Given the description of an element on the screen output the (x, y) to click on. 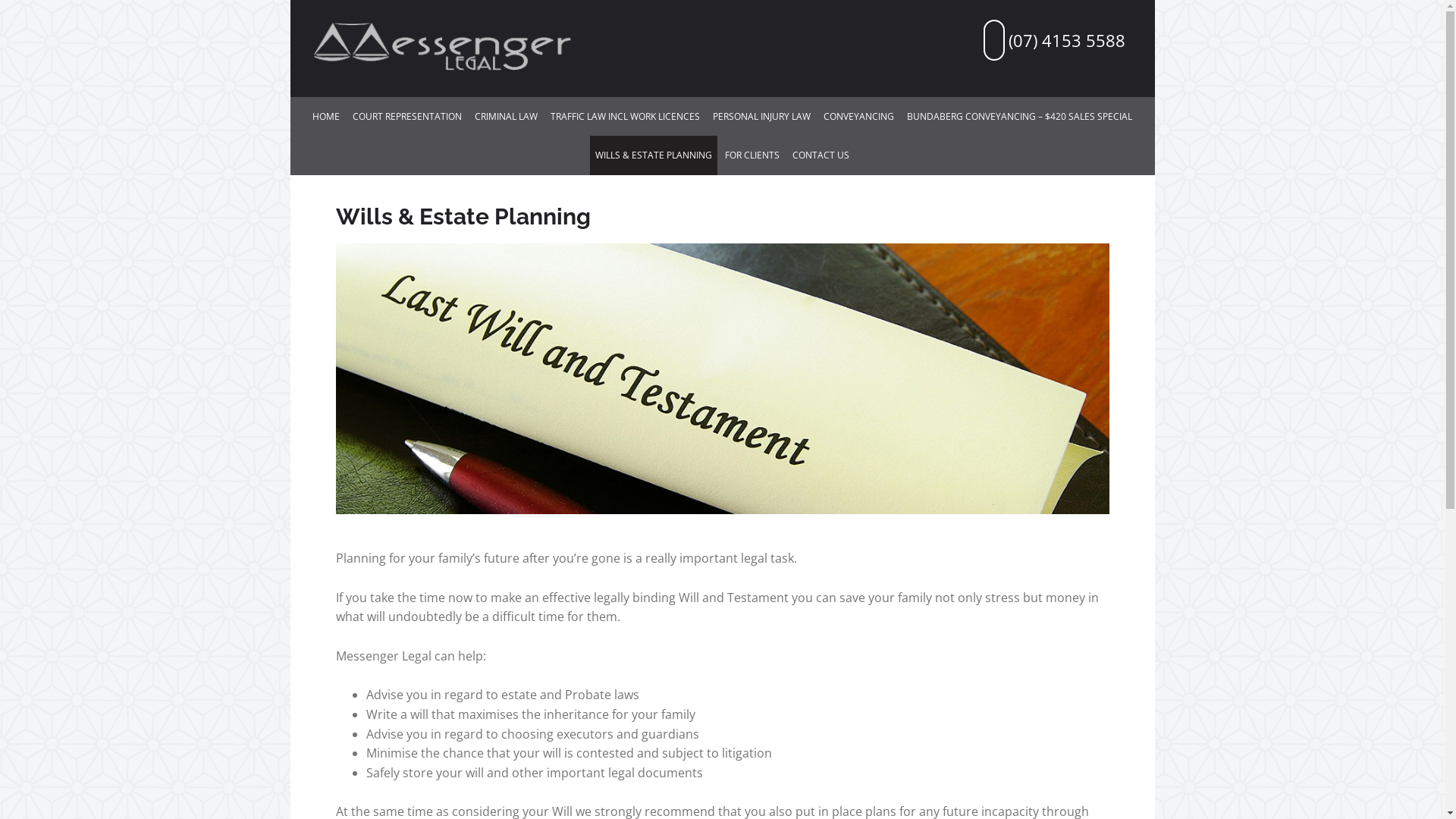
CONTACT US Element type: text (820, 154)
FOR CLIENTS Element type: text (751, 154)
HOME Element type: text (326, 116)
WILLS & ESTATE PLANNING Element type: text (653, 154)
TRAFFIC LAW INCL WORK LICENCES Element type: text (625, 116)
PERSONAL INJURY LAW Element type: text (761, 116)
COURT REPRESENTATION Element type: text (407, 116)
CRIMINAL LAW Element type: text (505, 116)
(07) 4153 5588 Element type: text (1053, 39)
Skip to primary navigation Element type: text (289, 0)
Messenger Legal Element type: hover (441, 48)
CONVEYANCING Element type: text (858, 116)
